Given the description of an element on the screen output the (x, y) to click on. 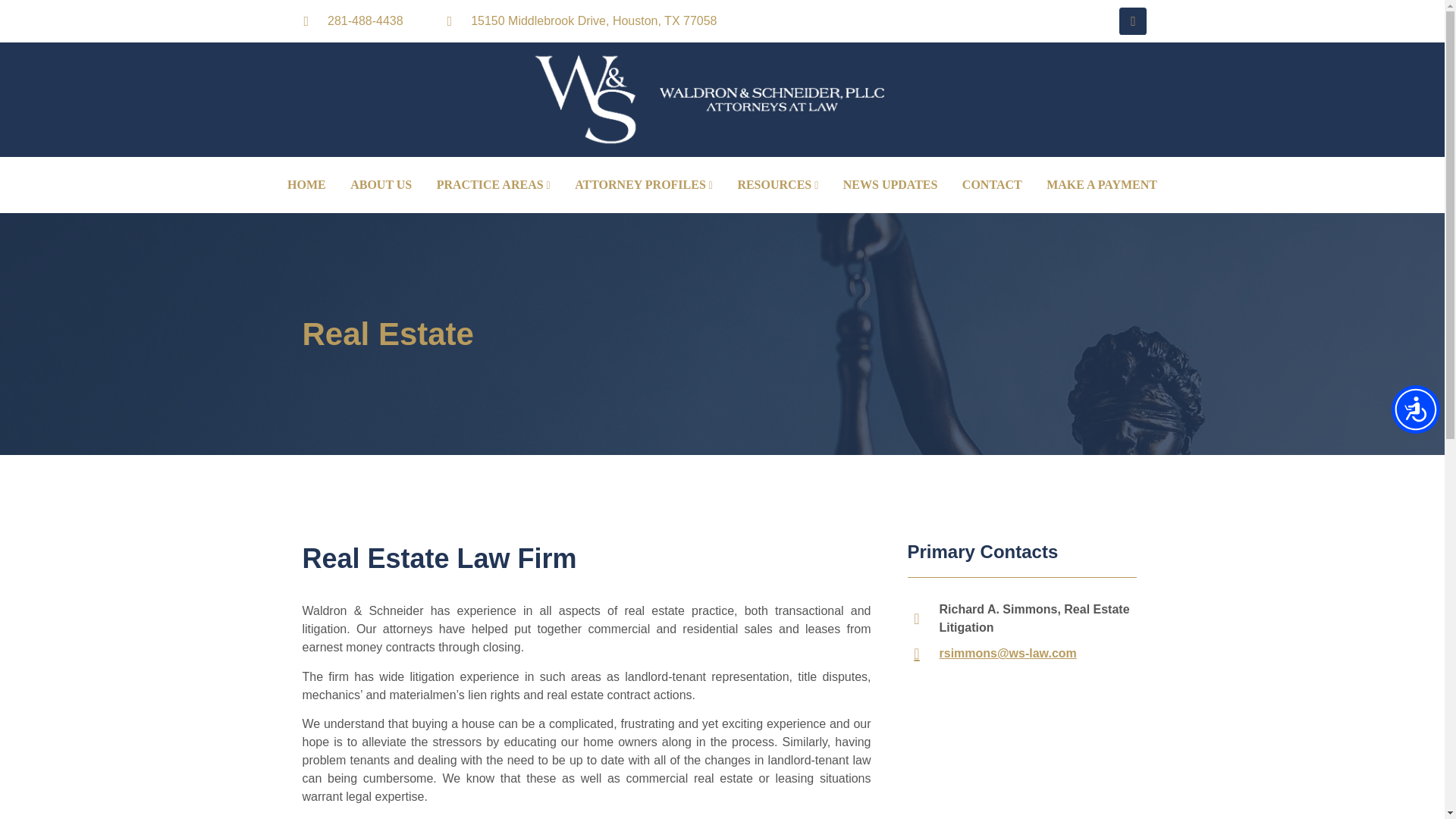
PRACTICE AREAS (493, 184)
RESOURCES (777, 184)
ATTORNEY PROFILES (643, 184)
HOME (306, 184)
281-488-4438 (365, 21)
ABOUT US (380, 184)
Accessibility Menu (1415, 409)
